Given the description of an element on the screen output the (x, y) to click on. 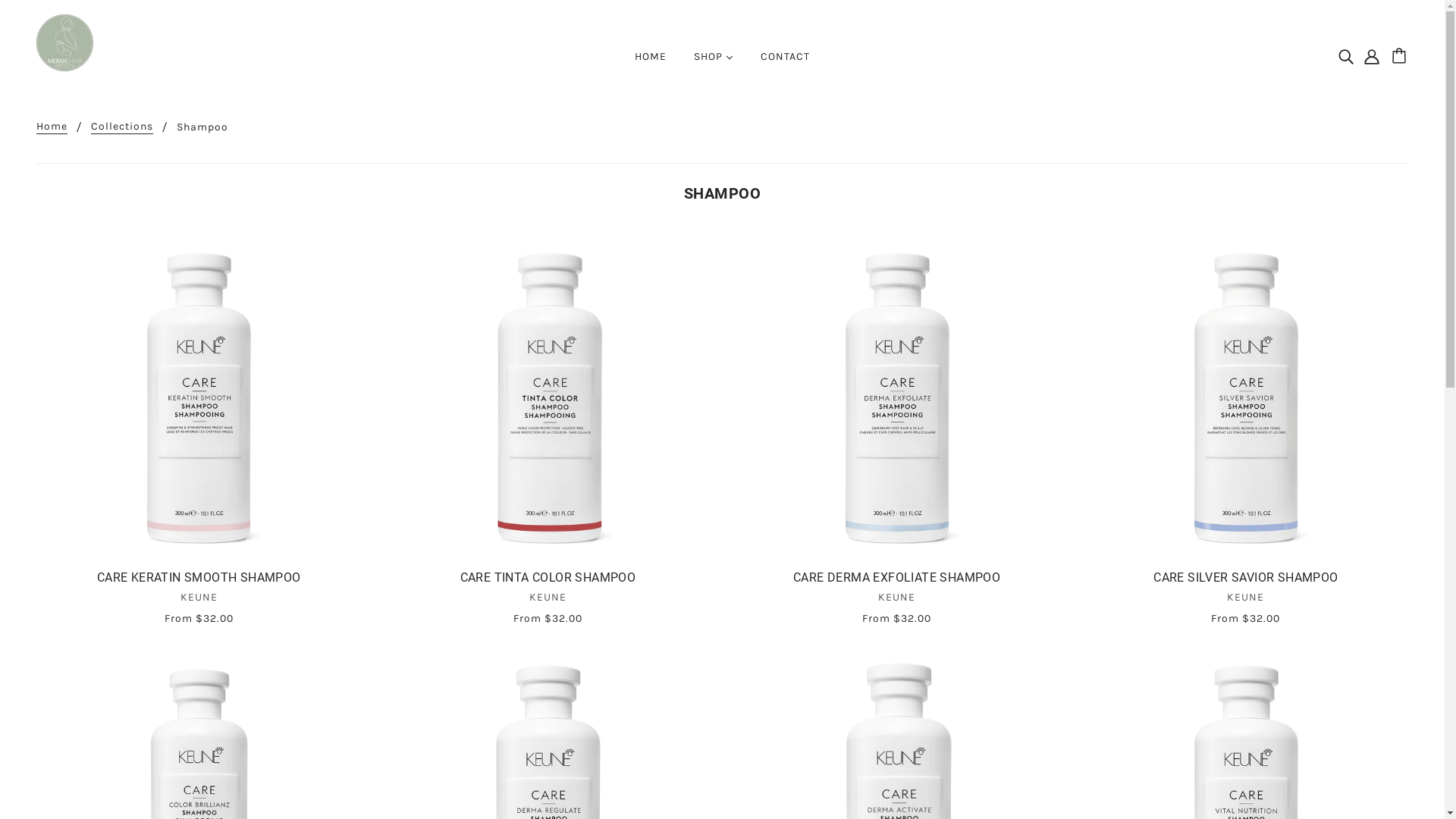
Home Element type: text (51, 127)
KEUNE Element type: text (896, 601)
CARE TINTA COLOR SHAMPOO Element type: text (547, 581)
From $32.00 Element type: text (1245, 617)
KEUNE Element type: text (1245, 601)
From $32.00 Element type: text (547, 617)
Collections Element type: text (122, 127)
CARE SILVER SAVIOR SHAMPOO Element type: text (1245, 581)
KEUNE Element type: text (198, 601)
KEUNE Element type: text (547, 601)
SHOP Element type: text (713, 62)
HOME Element type: text (650, 62)
From $32.00 Element type: text (896, 617)
Meraki Hair Artists Element type: hover (64, 41)
CARE KERATIN SMOOTH SHAMPOO Element type: text (198, 581)
From $32.00 Element type: text (198, 617)
CONTACT Element type: text (785, 62)
CARE DERMA EXFOLIATE SHAMPOO Element type: text (896, 581)
